Given the description of an element on the screen output the (x, y) to click on. 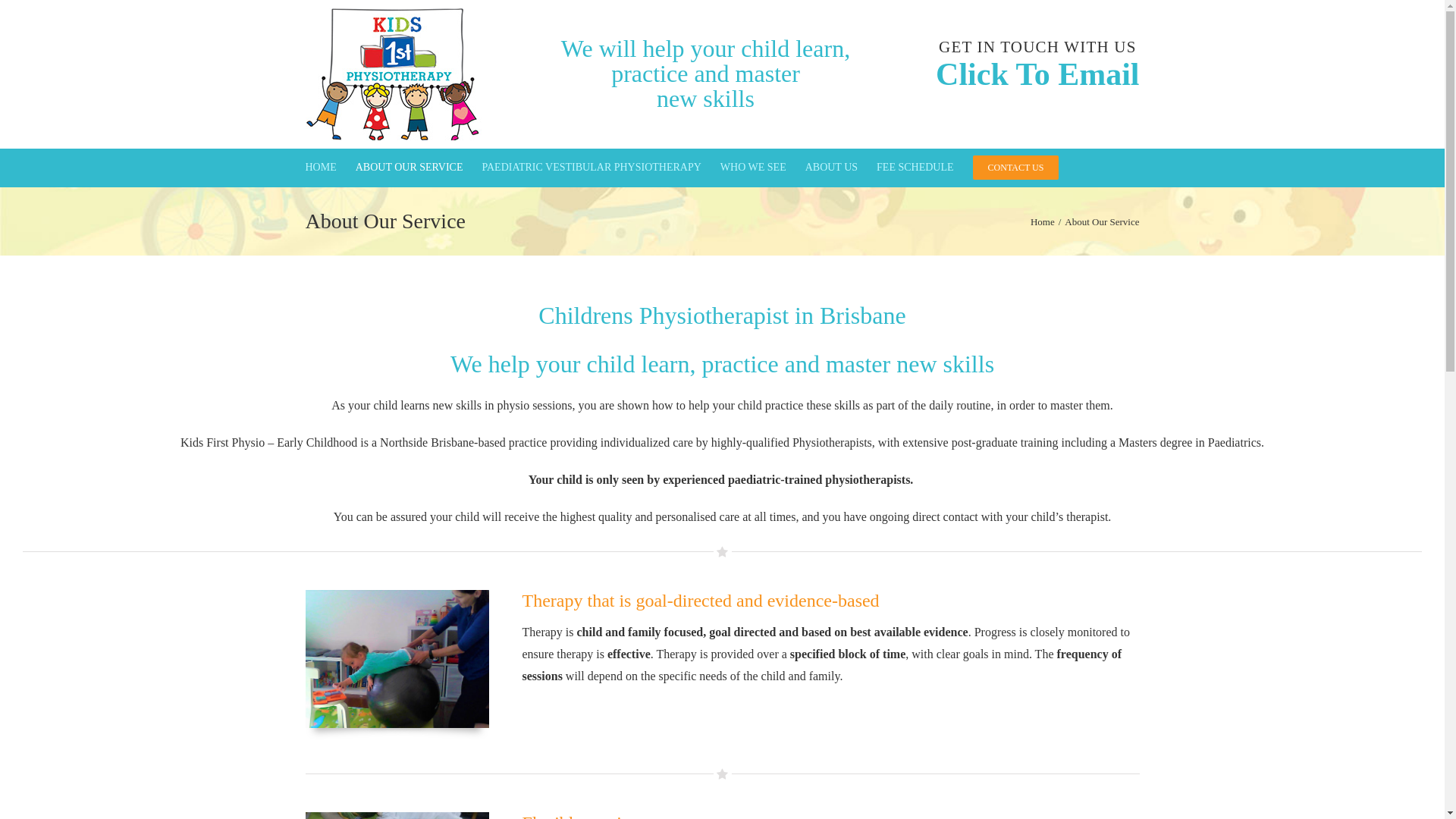
HOME Element type: text (319, 167)
ABOUT US Element type: text (831, 167)
ABOUT OUR SERVICE Element type: text (409, 167)
WHO WE SEE Element type: text (753, 167)
CONTACT US Element type: text (1015, 167)
PAEDIATRIC VESTIBULAR PHYSIOTHERAPY Element type: text (590, 167)
Click To Email Element type: text (1037, 74)
FEE SCHEDULE Element type: text (914, 167)
Home Element type: text (1042, 220)
